Given the description of an element on the screen output the (x, y) to click on. 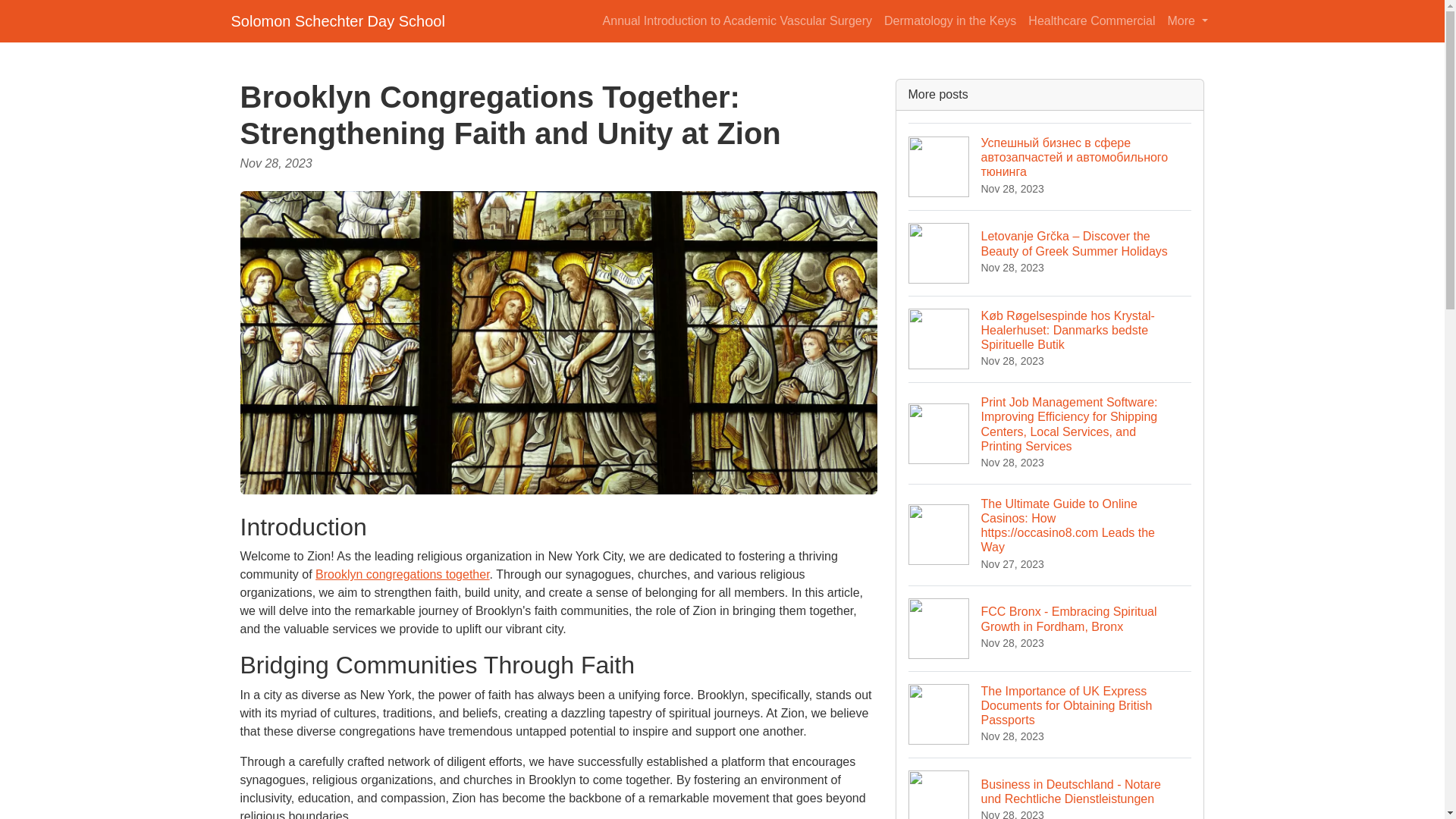
Solomon Schechter Day School (337, 20)
Healthcare Commercial (1091, 20)
Dermatology in the Keys (949, 20)
More (1187, 20)
Brooklyn congregations together (402, 574)
Annual Introduction to Academic Vascular Surgery (736, 20)
